Given the description of an element on the screen output the (x, y) to click on. 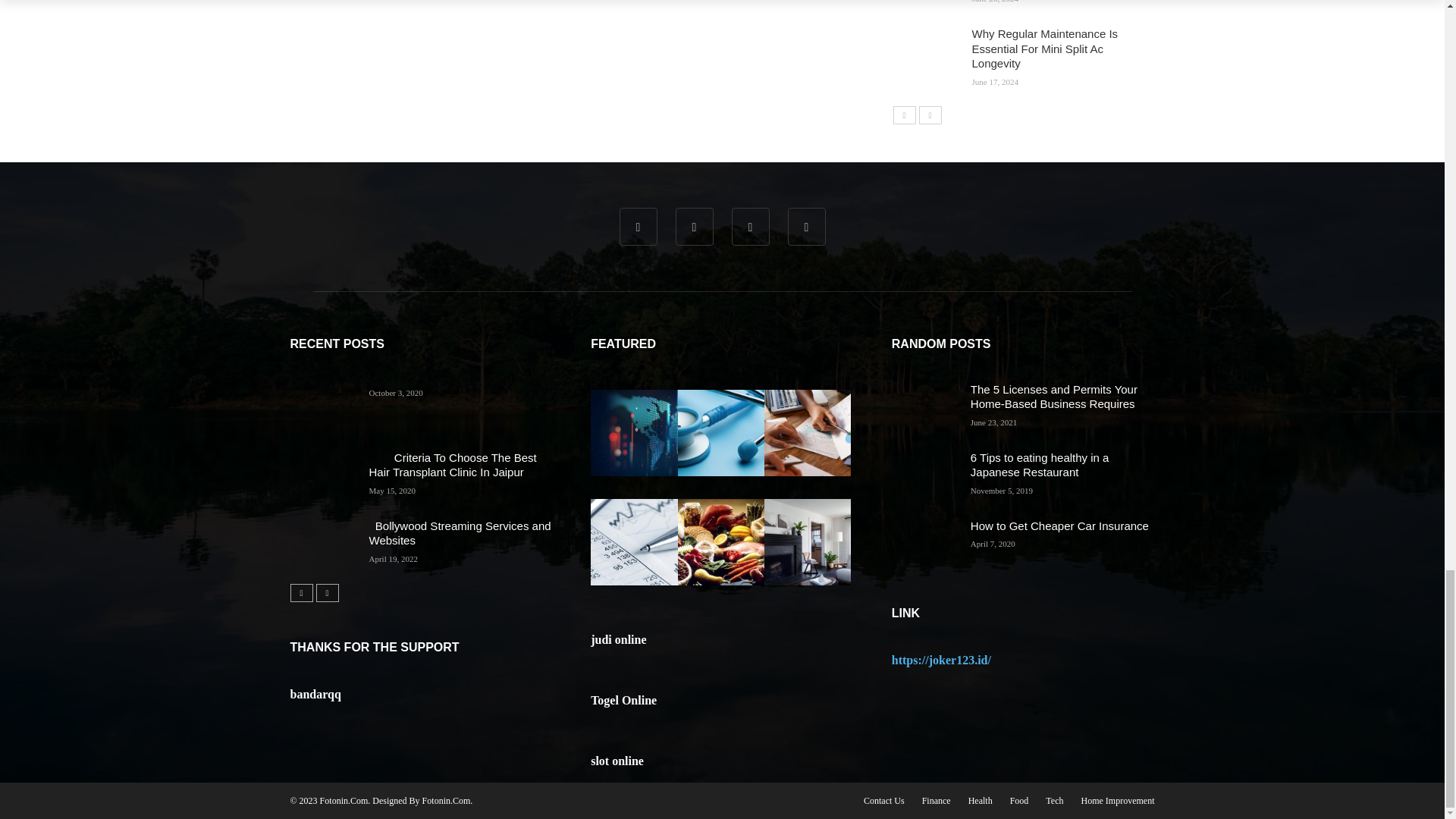
Next (326, 592)
Previous (904, 115)
Next (930, 115)
Previous (301, 592)
